Given the description of an element on the screen output the (x, y) to click on. 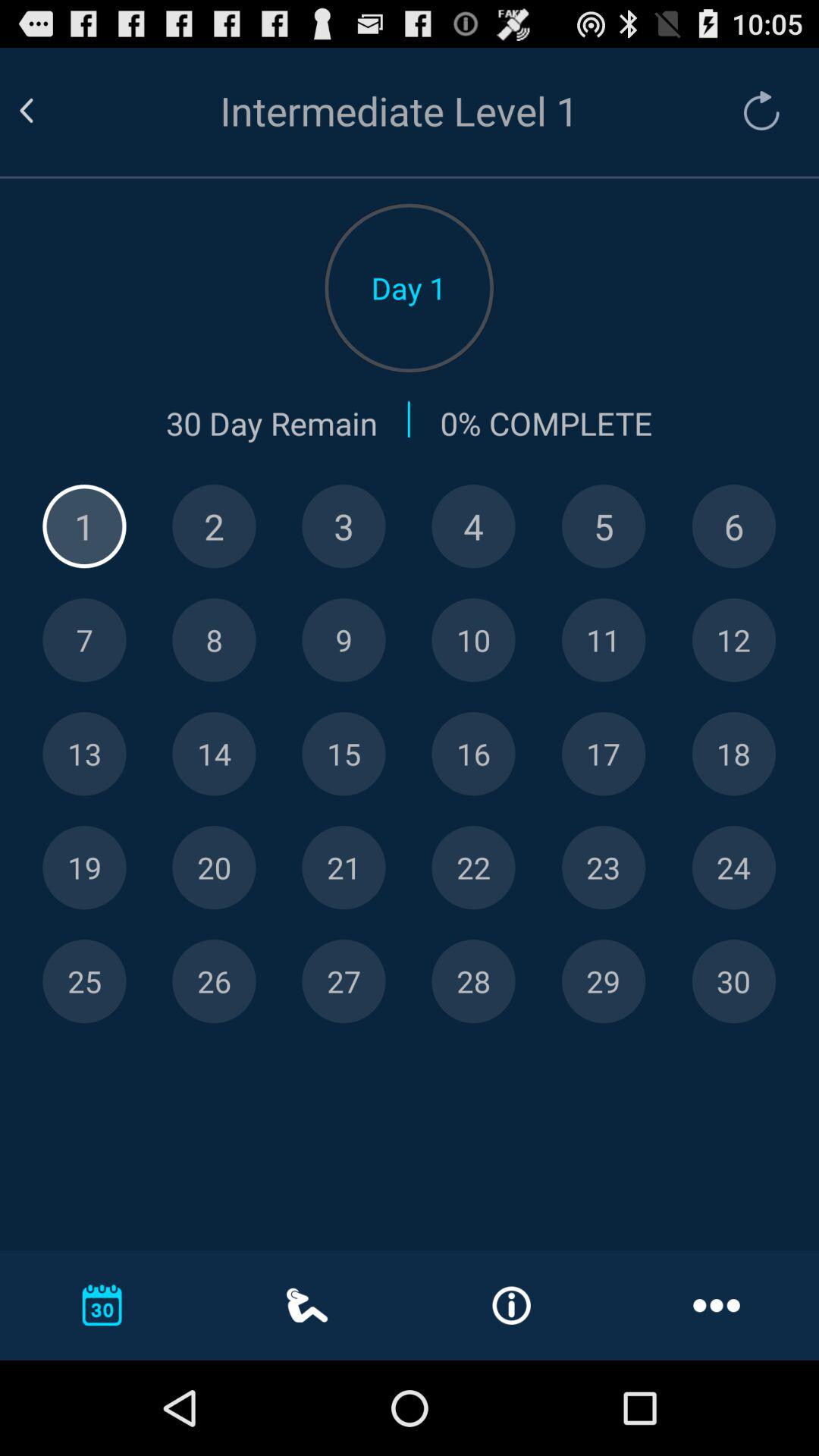
twenty-five number (84, 981)
